Given the description of an element on the screen output the (x, y) to click on. 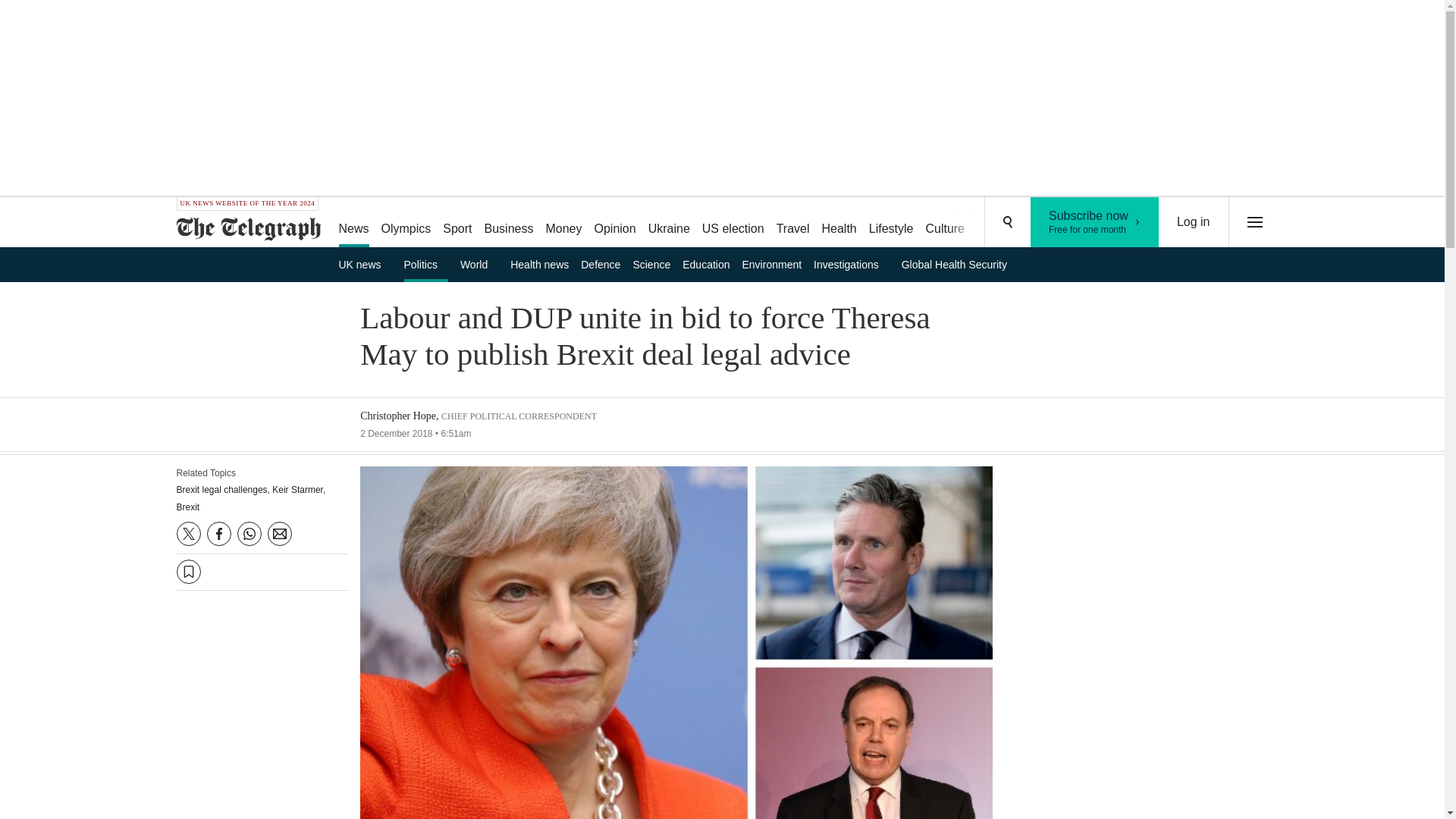
UK news (364, 264)
Travel (792, 223)
Health (838, 223)
World (478, 264)
US election (732, 223)
Culture (944, 223)
Politics (425, 264)
Opinion (615, 223)
Lifestyle (891, 223)
Olympics (406, 223)
Log in (1193, 222)
Money (1094, 222)
Puzzles (563, 223)
Podcasts (998, 223)
